Given the description of an element on the screen output the (x, y) to click on. 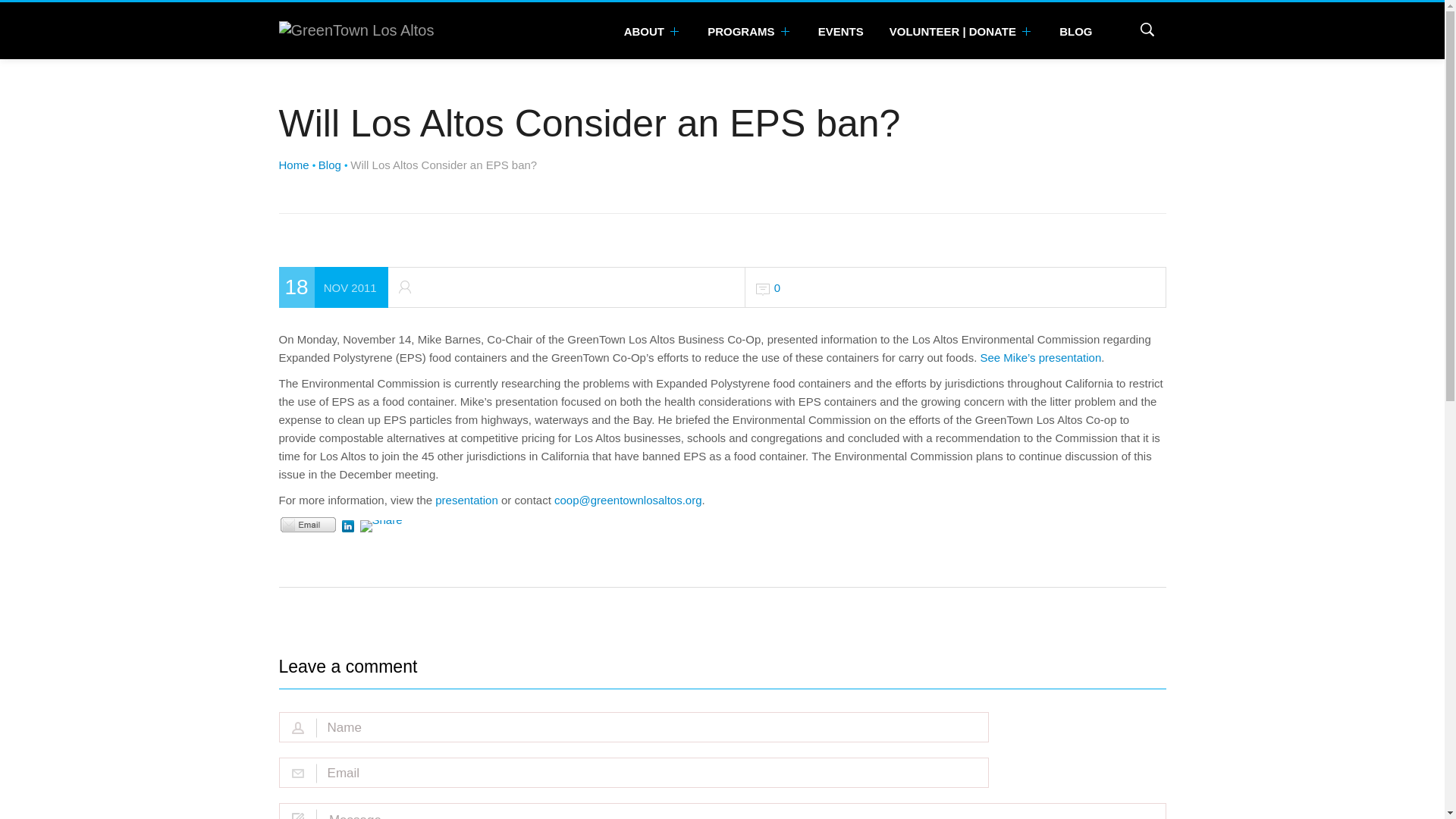
ABOUT US (676, 75)
Home (293, 164)
Name (639, 727)
GreenTown Los Altos (356, 30)
WATER (953, 75)
CARBON BOOTCAMP: JOIN NOW AND SHRINK YOUR CARBON FOOTPRINT (1081, 75)
CONTACT US (803, 75)
VOLUNTEER: MAKE A DIFFERENCE (990, 75)
PROGRAMS (749, 30)
Share on LinkedIn (346, 526)
Email (639, 773)
ABOUT (653, 30)
WATER (777, 75)
WOW PROGRAM (967, 75)
BLOG (1075, 30)
